Given the description of an element on the screen output the (x, y) to click on. 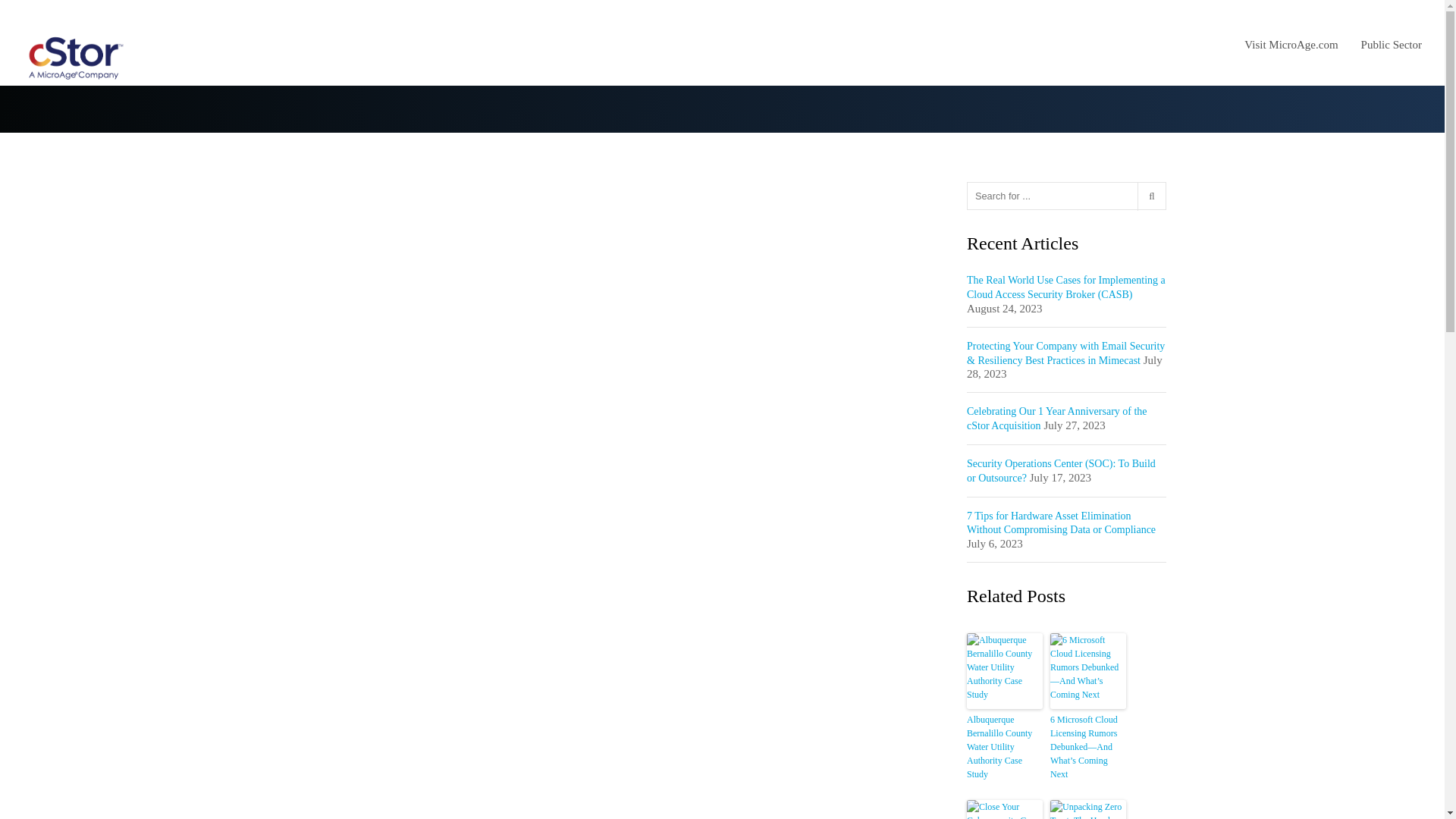
Visit MicroAge.com (1301, 44)
Celebrating Our 1 Year Anniversary of the cStor Acquisition (1056, 418)
